Given the description of an element on the screen output the (x, y) to click on. 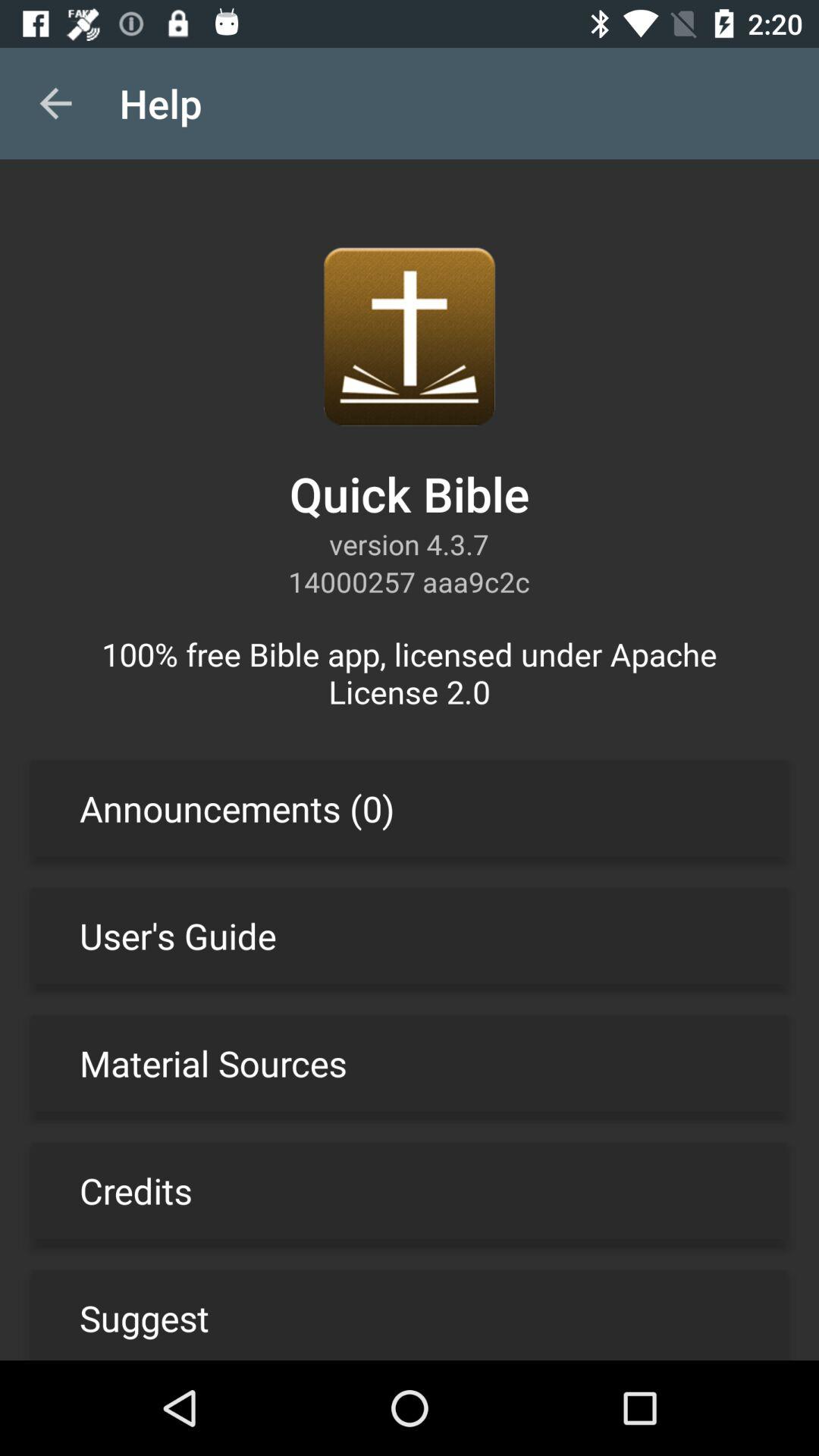
flip to the 100 free bible item (409, 672)
